Given the description of an element on the screen output the (x, y) to click on. 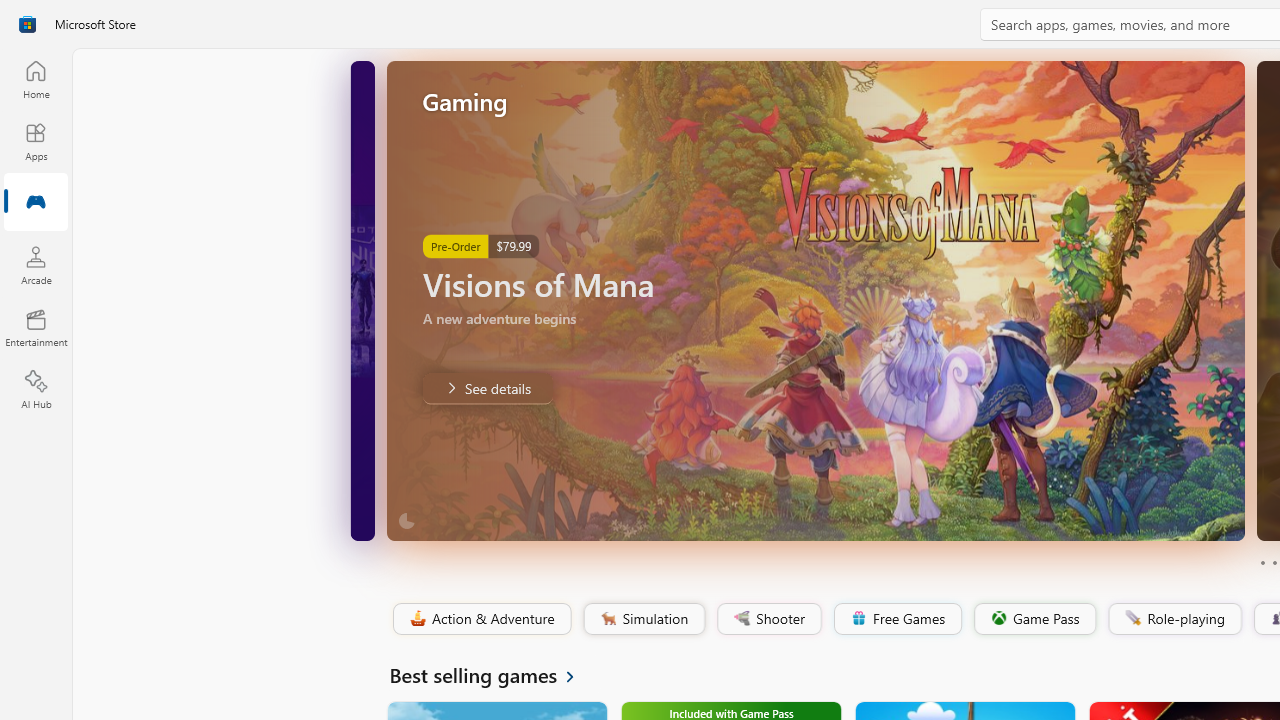
See all  Best selling games (493, 674)
Simulation (643, 619)
AutomationID: Image (815, 300)
Page 2 (1274, 562)
Shooter (767, 619)
Game Pass (1033, 619)
Free Games (897, 619)
Page 1 (1261, 562)
